Given the description of an element on the screen output the (x, y) to click on. 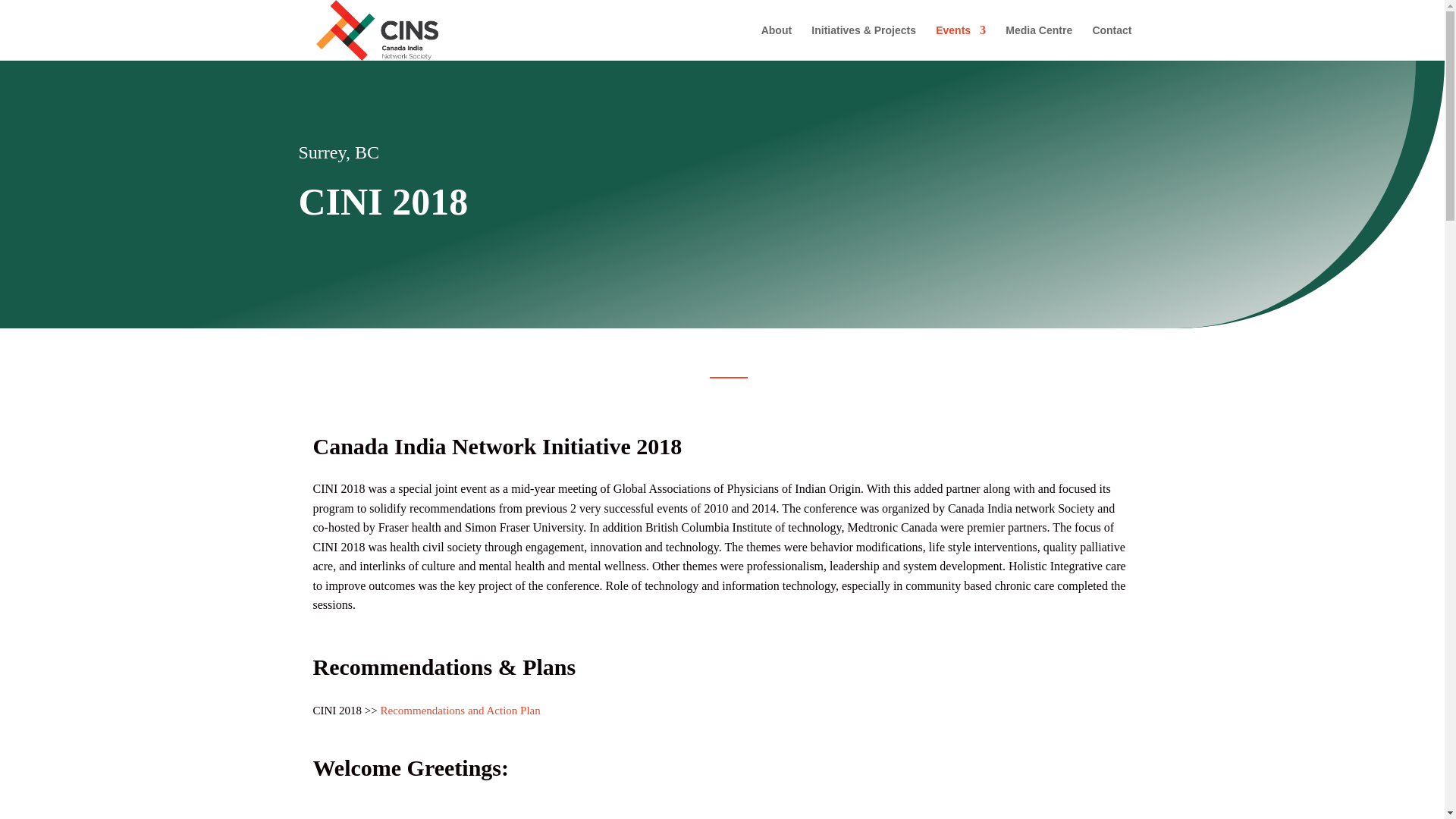
Recommendations and Action Plan (460, 710)
Contact (1111, 42)
Events (960, 42)
Media Centre (1038, 42)
